Given the description of an element on the screen output the (x, y) to click on. 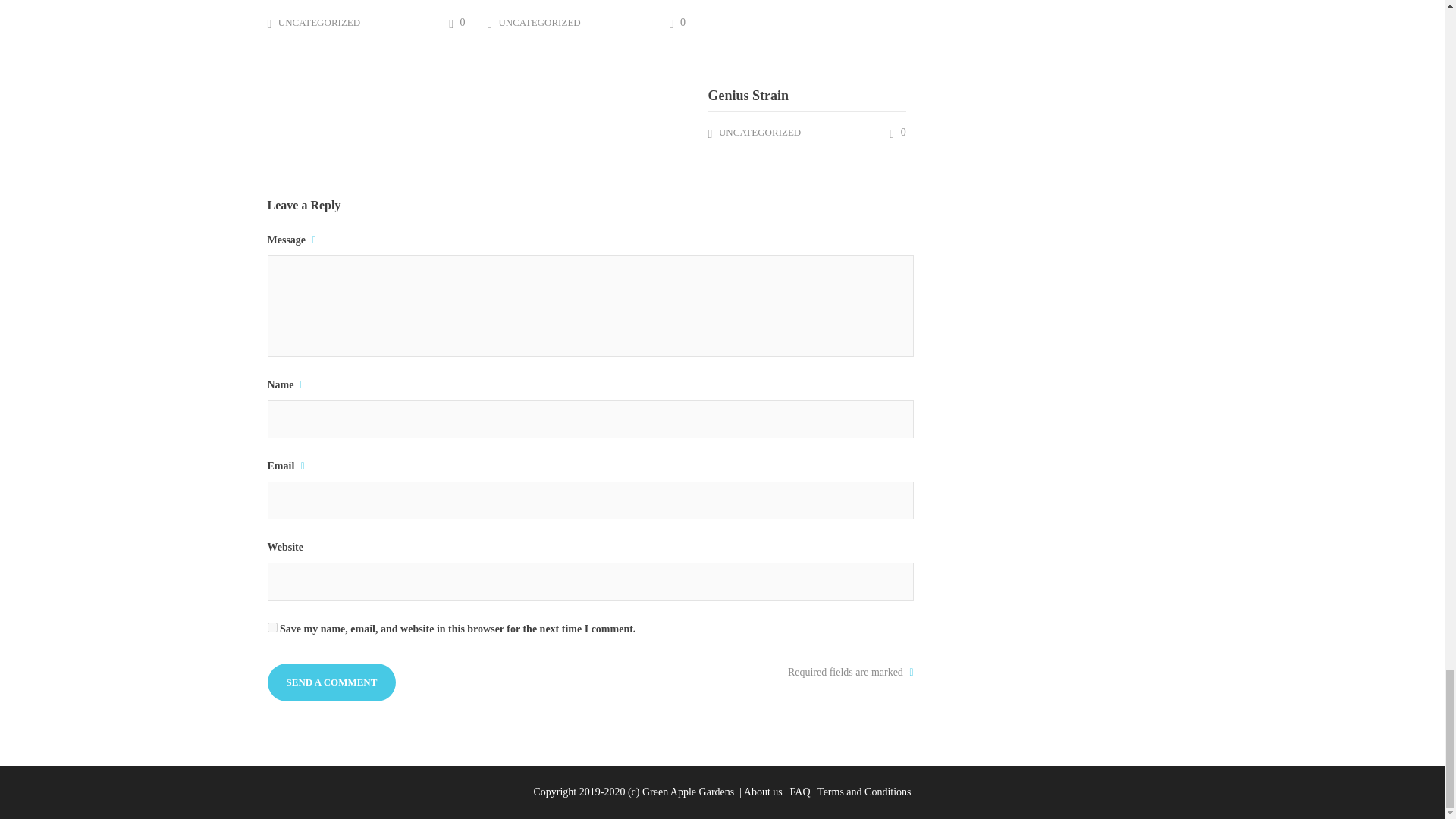
Send a comment (331, 682)
yes (271, 627)
